Given the description of an element on the screen output the (x, y) to click on. 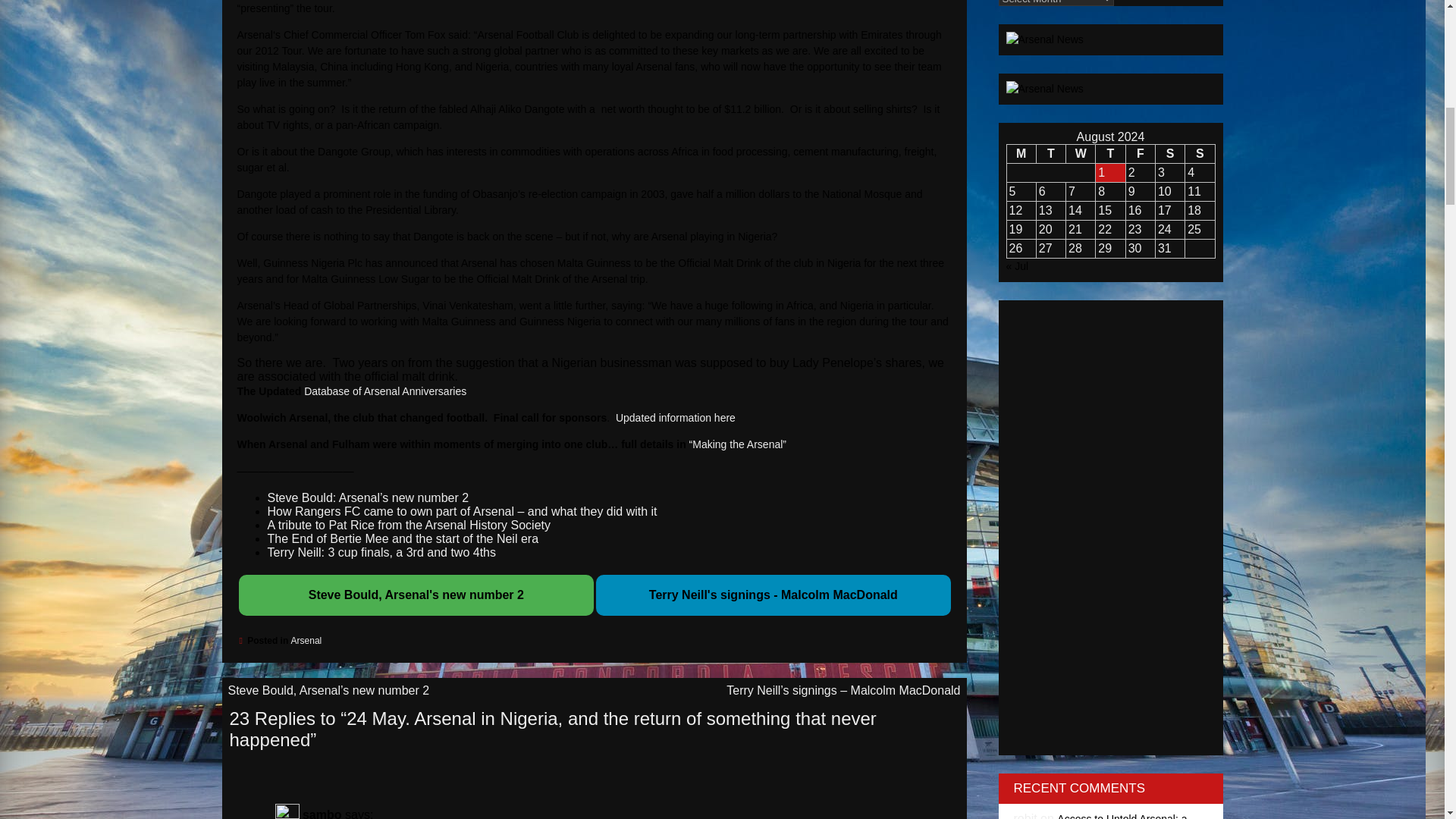
Terry Neill's signings - Malcolm MacDonald (773, 594)
A tribute to Pat Rice from the Arsenal History Society (408, 524)
Steve Bould, Arsenal's new number 2 (415, 594)
Database of Arsenal Anniversaries (384, 390)
Gooner News - Arsenal News 24hrs a day! (1044, 88)
Alhaji (592, 117)
Steve Bould, Arsenal's new number 2 (416, 594)
Alhaji (592, 160)
Terry Neill's signings - Malcolm MacDonald (773, 594)
Arsenal News (1044, 39)
The End of Bertie Mee and the start of the Neil era (402, 538)
Monday (1020, 153)
Tuesday (1050, 153)
Updated information here (675, 417)
Terry Neill: 3 cup finals, a 3rd and two 4ths (380, 552)
